Given the description of an element on the screen output the (x, y) to click on. 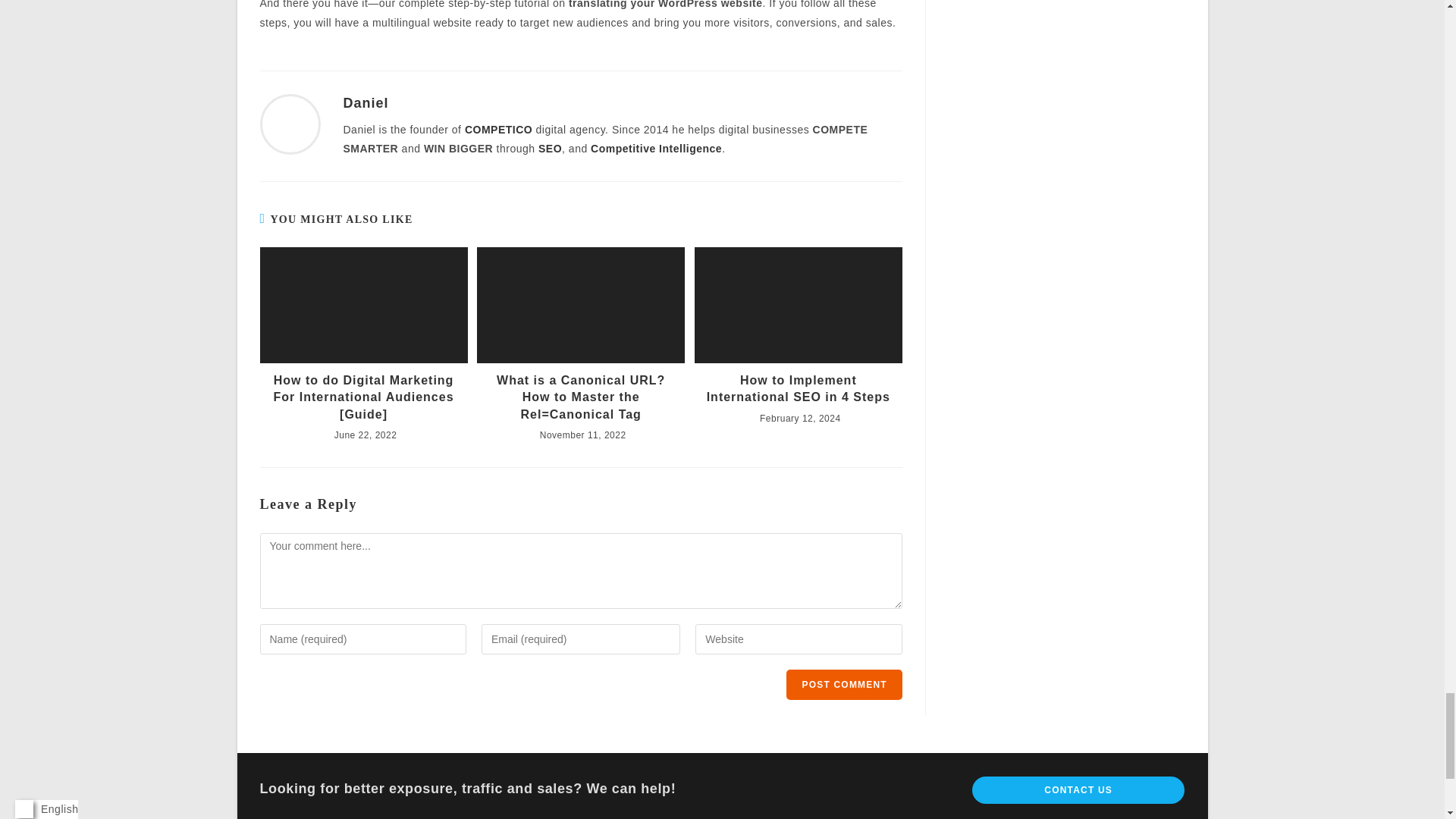
Visit author page (289, 122)
Visit author page (365, 102)
Post Comment (843, 684)
